Given the description of an element on the screen output the (x, y) to click on. 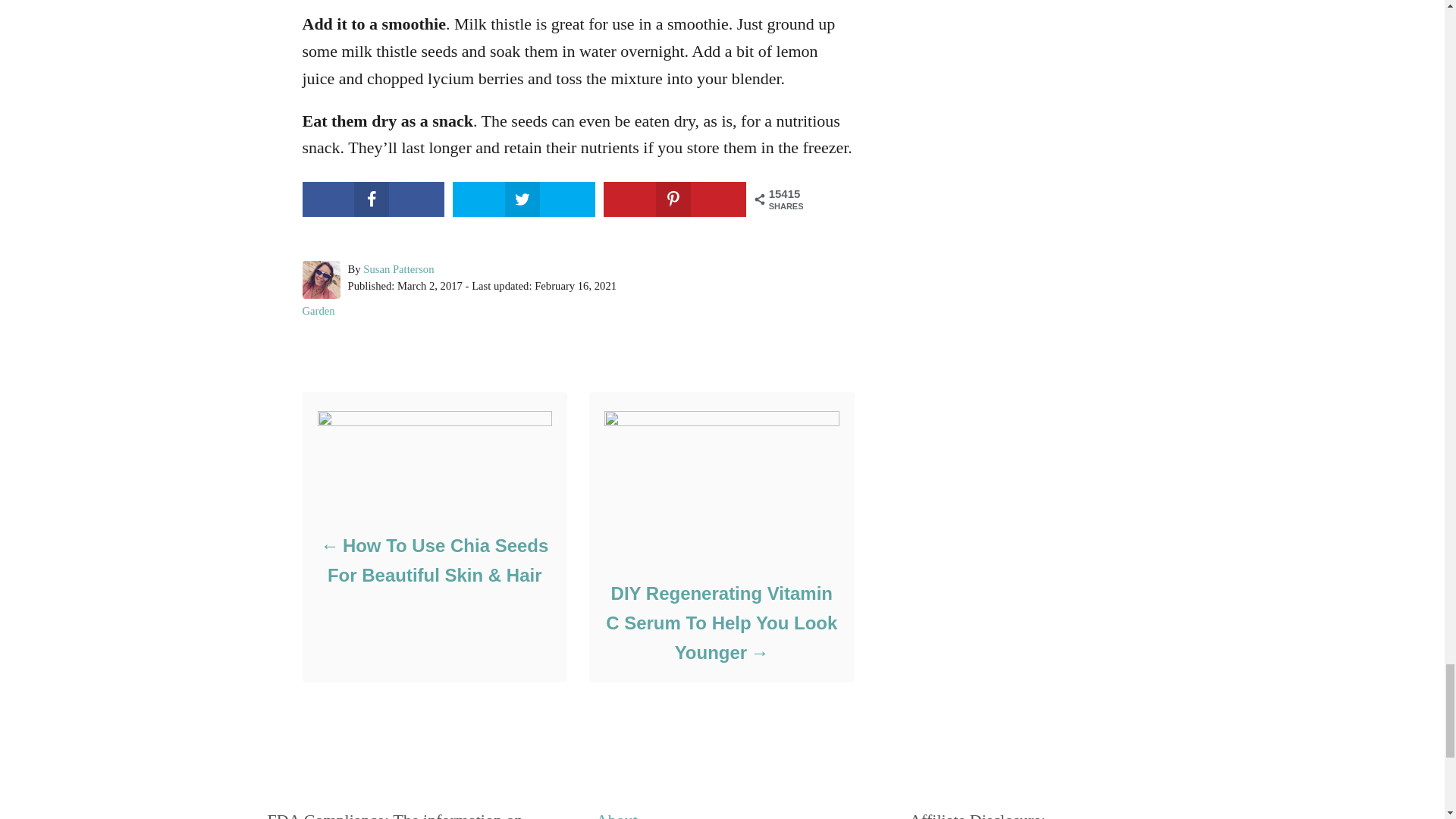
Susan Patterson (397, 268)
Garden (317, 310)
About (616, 814)
DIY Regenerating Vitamin C Serum To Help You Look Younger (721, 622)
Save to Pinterest (674, 199)
Share on Twitter (523, 199)
Share on Facebook (372, 199)
